Given the description of an element on the screen output the (x, y) to click on. 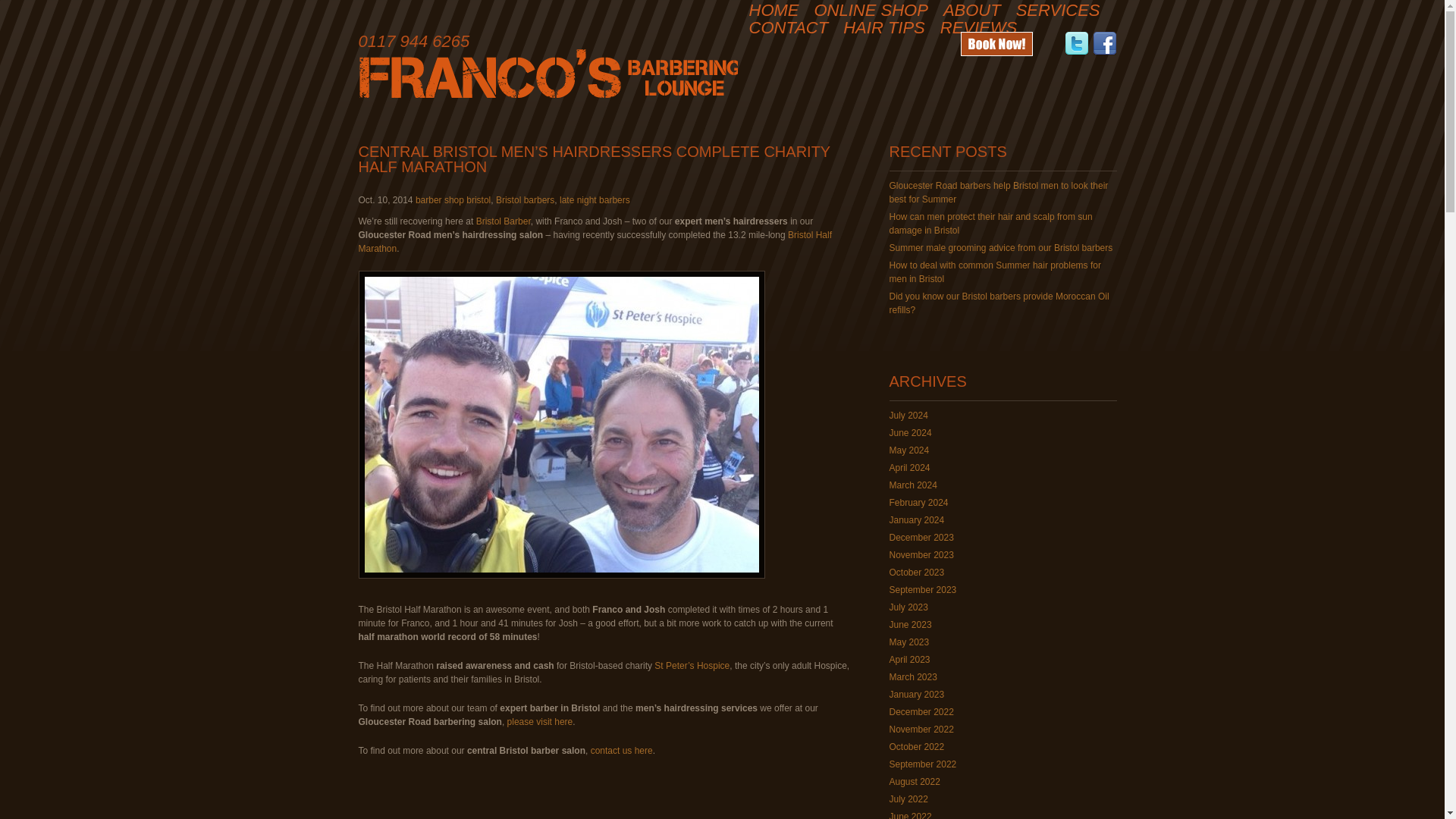
June 2024 (909, 432)
October 2023 (915, 572)
contact us here (621, 750)
HOME (774, 10)
Book now (997, 43)
Bristol Half Marathon (594, 241)
February 2024 (917, 502)
ABOUT (972, 10)
January 2024 (915, 520)
HAIR TIPS (883, 28)
March 2024 (912, 484)
Bristol barbers (525, 199)
May 2024 (908, 450)
November 2023 (920, 554)
